Given the description of an element on the screen output the (x, y) to click on. 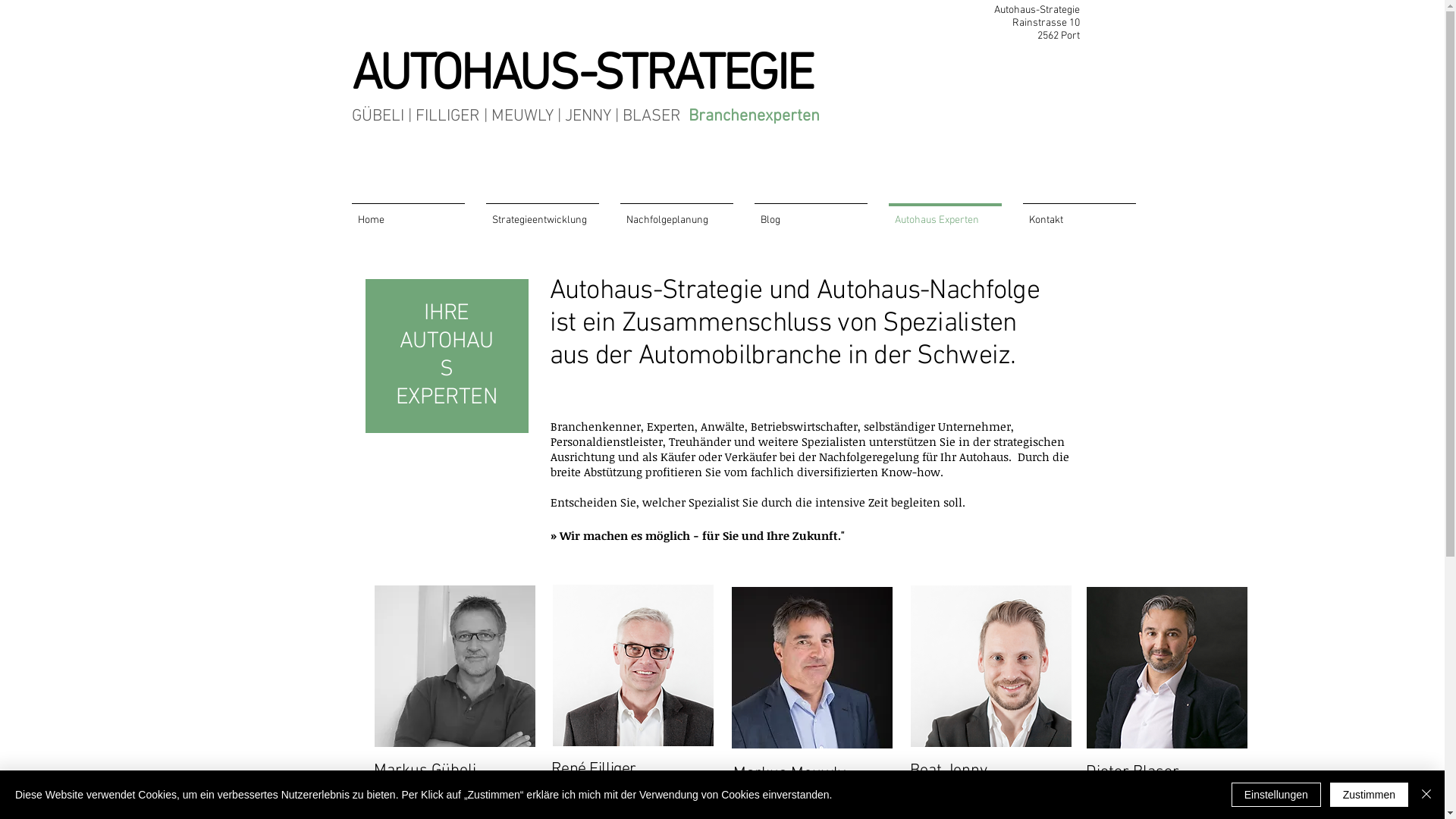
Zustimmen Element type: text (1369, 794)
Kontakt Element type: text (1078, 213)
Nachfolgeplanung Element type: text (676, 213)
Strategieentwicklung Element type: text (541, 213)
Blog Element type: text (810, 213)
Autohaus Experten Element type: text (945, 213)
Home Element type: text (408, 213)
Einstellungen Element type: text (1276, 794)
